Given the description of an element on the screen output the (x, y) to click on. 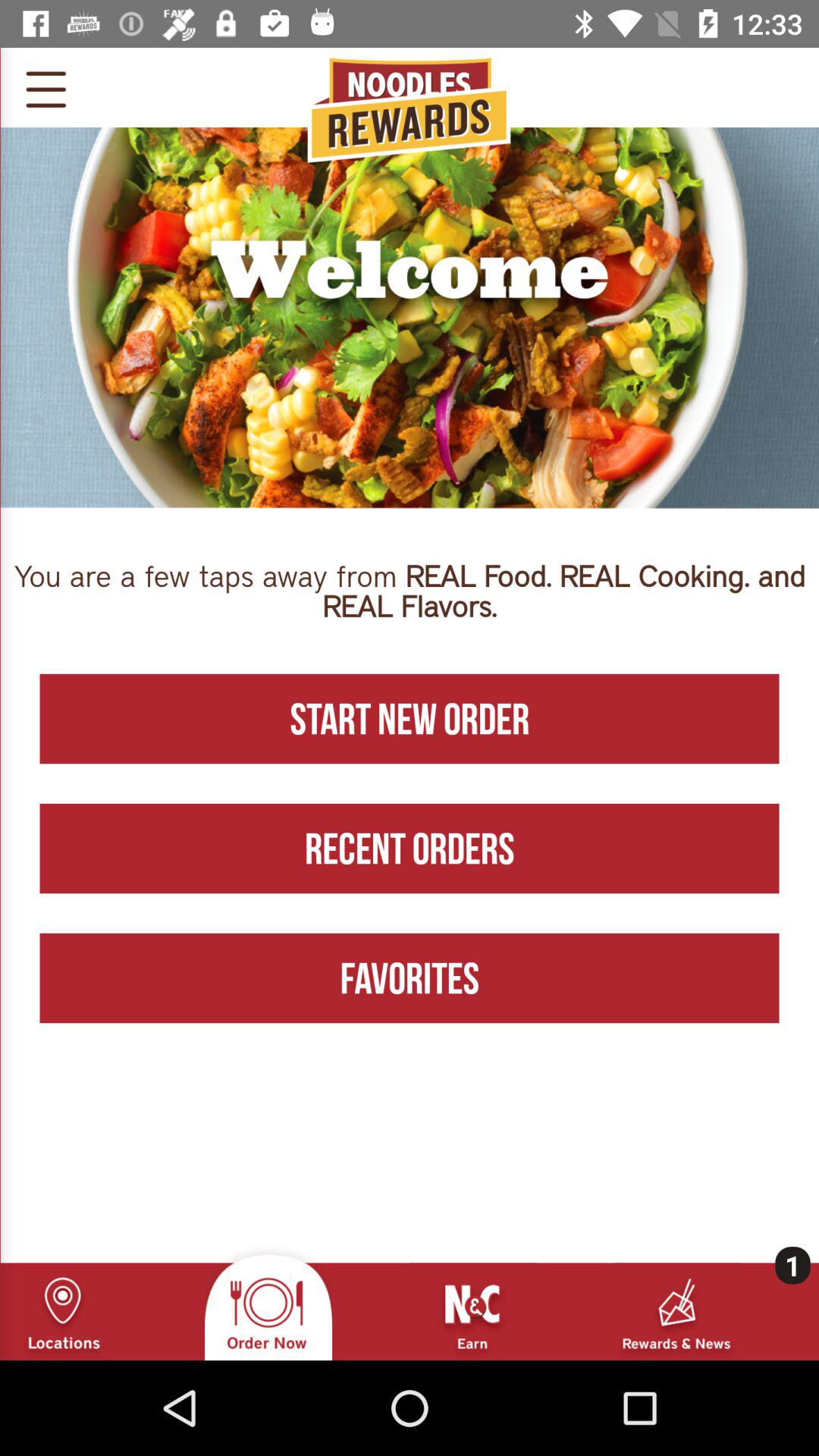
list button (45, 87)
